Given the description of an element on the screen output the (x, y) to click on. 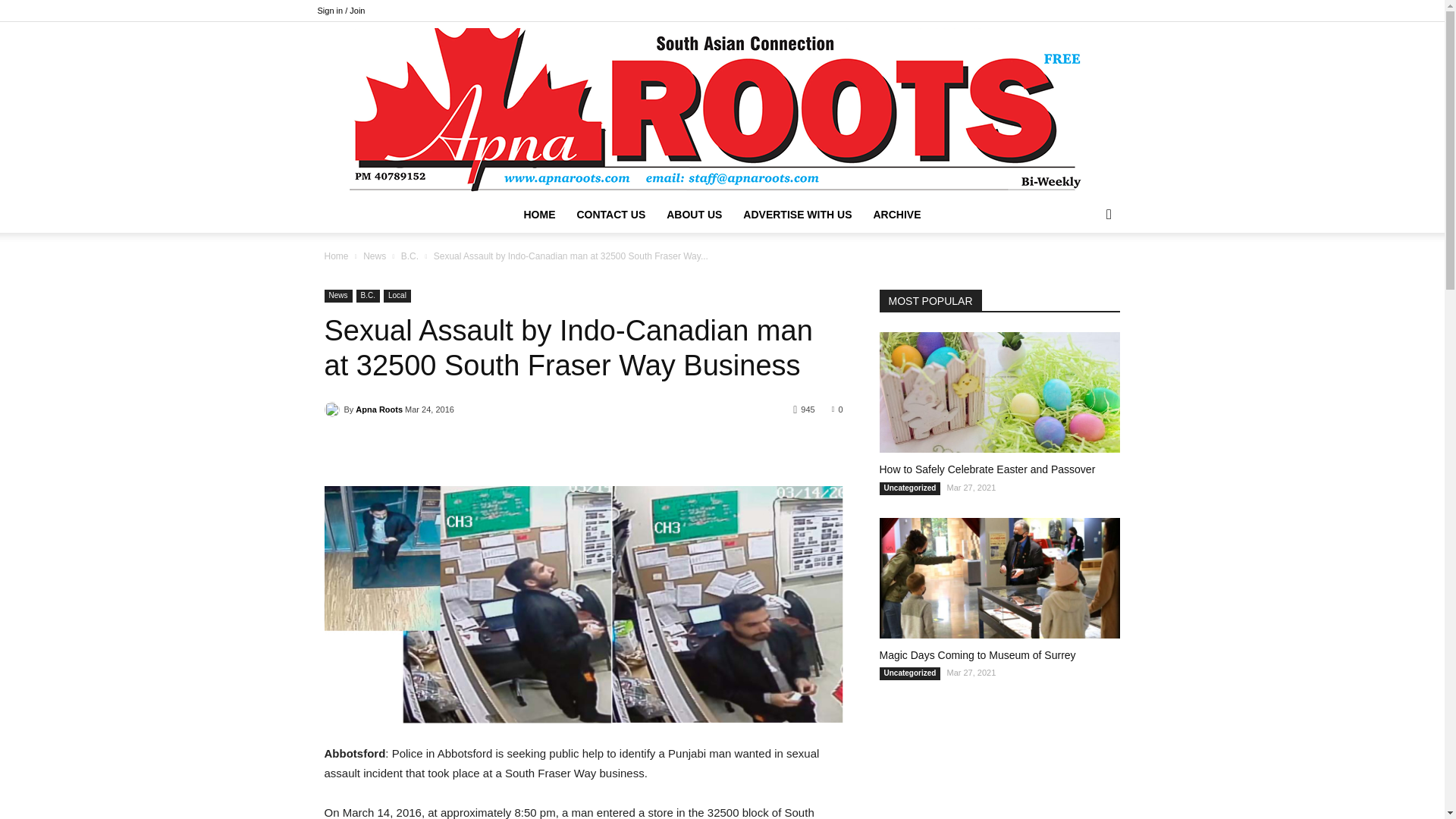
ADVERTISE WITH US (796, 214)
B.C. (410, 255)
Apna Roots (379, 409)
How to Safely Celebrate Easter and Passover (987, 469)
ABOUT US (694, 214)
View all posts in B.C. (410, 255)
View all posts in News (373, 255)
Magic Days Coming to Museum of Surrey (1000, 577)
Search (1085, 274)
How to Safely Celebrate Easter and Passover (1000, 392)
